Given the description of an element on the screen output the (x, y) to click on. 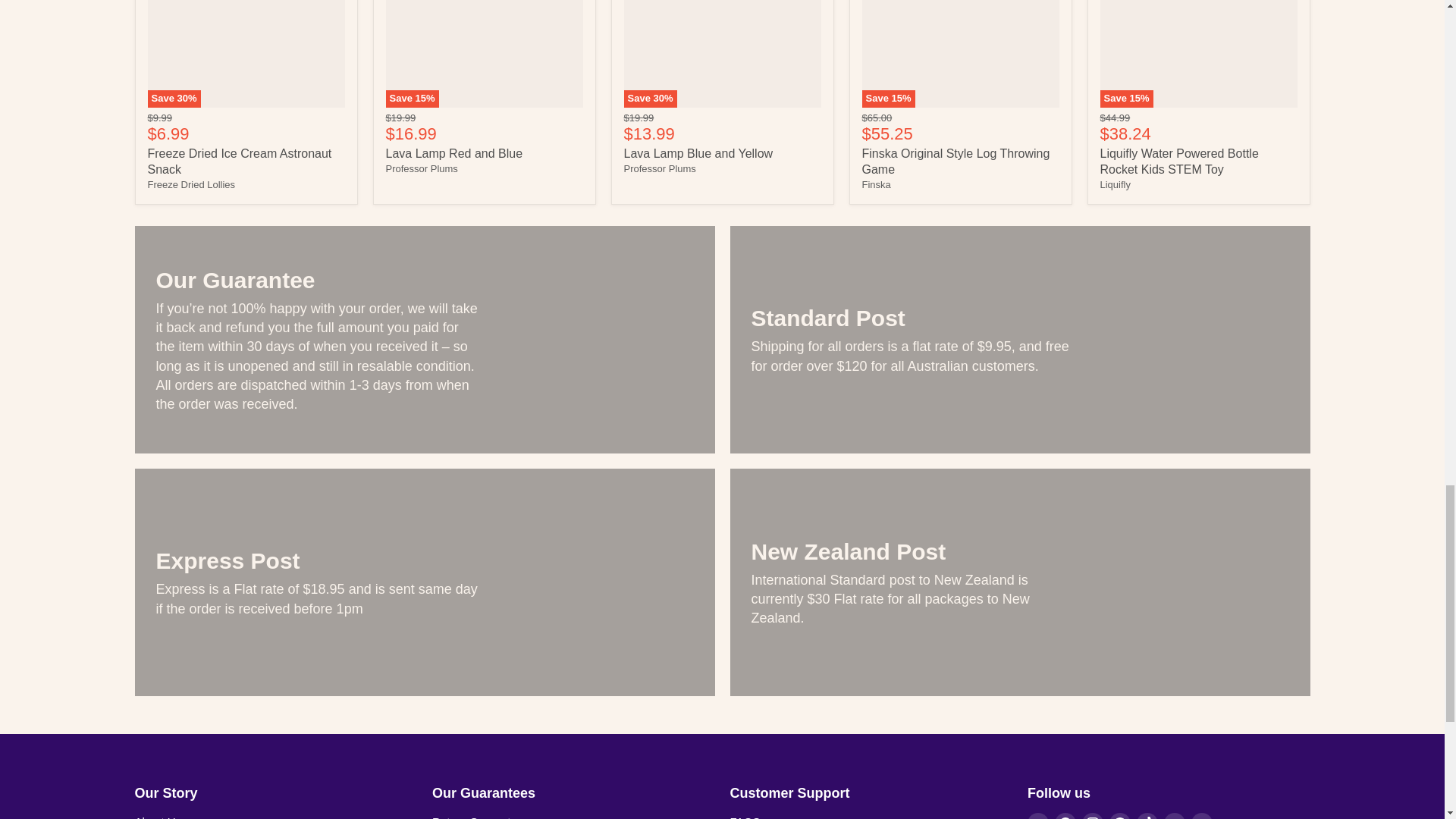
Reddit (1120, 816)
Finska (875, 184)
Email (1037, 816)
Freeze Dried Lollies (190, 184)
Instagram (1092, 816)
Facebook (1064, 816)
Professor Plums (421, 168)
Professor Plums (659, 168)
Liquifly (1114, 184)
